Given the description of an element on the screen output the (x, y) to click on. 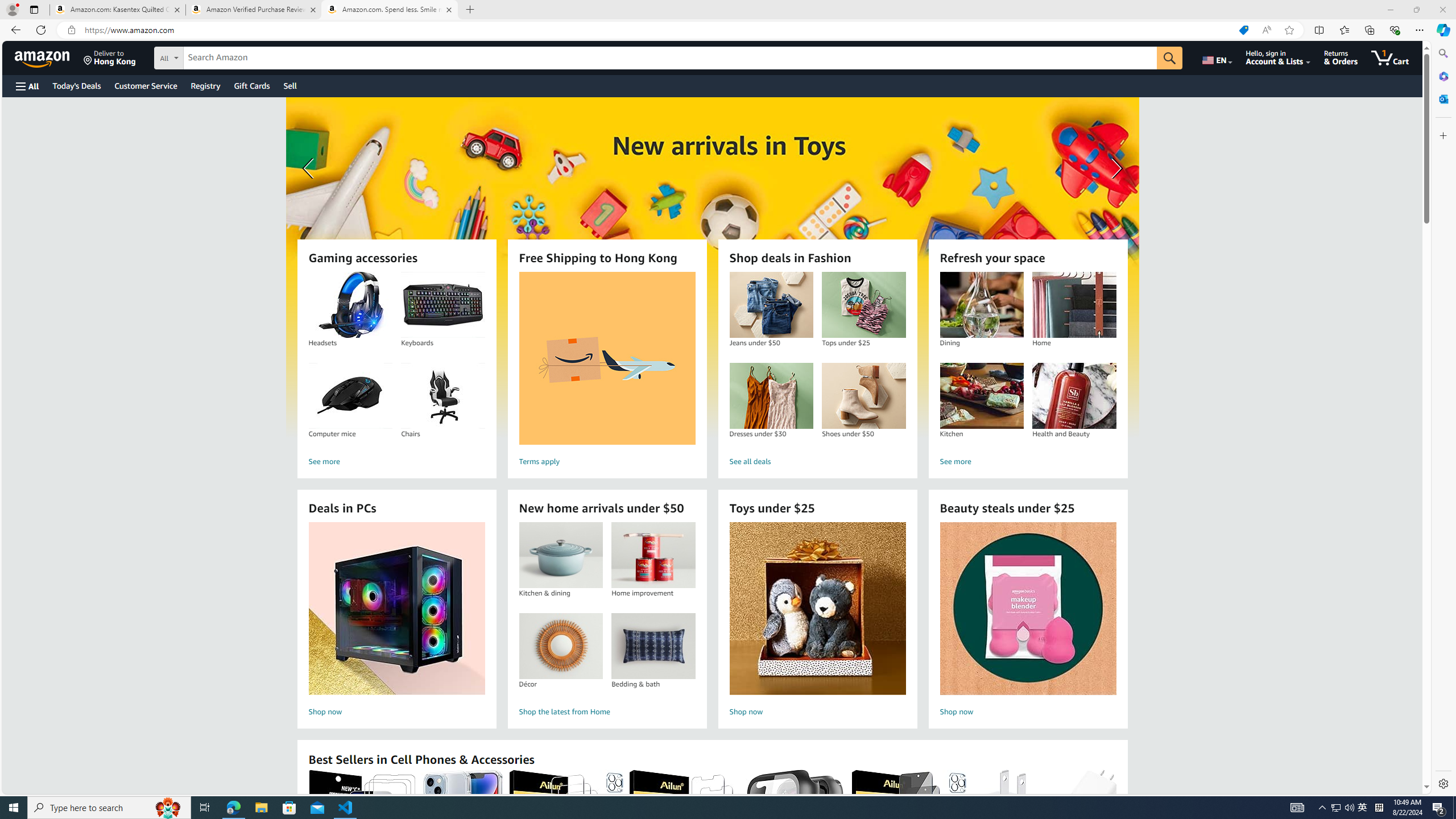
Open Menu (26, 86)
Go (1169, 57)
Deals in PCs (395, 608)
Amazon (43, 57)
Health and Beauty (1074, 395)
Toys under $25 Shop now (817, 620)
Choose a language for shopping. (1216, 57)
Dresses under $30 (771, 395)
Chairs (443, 395)
Beauty (711, 267)
